Given the description of an element on the screen output the (x, y) to click on. 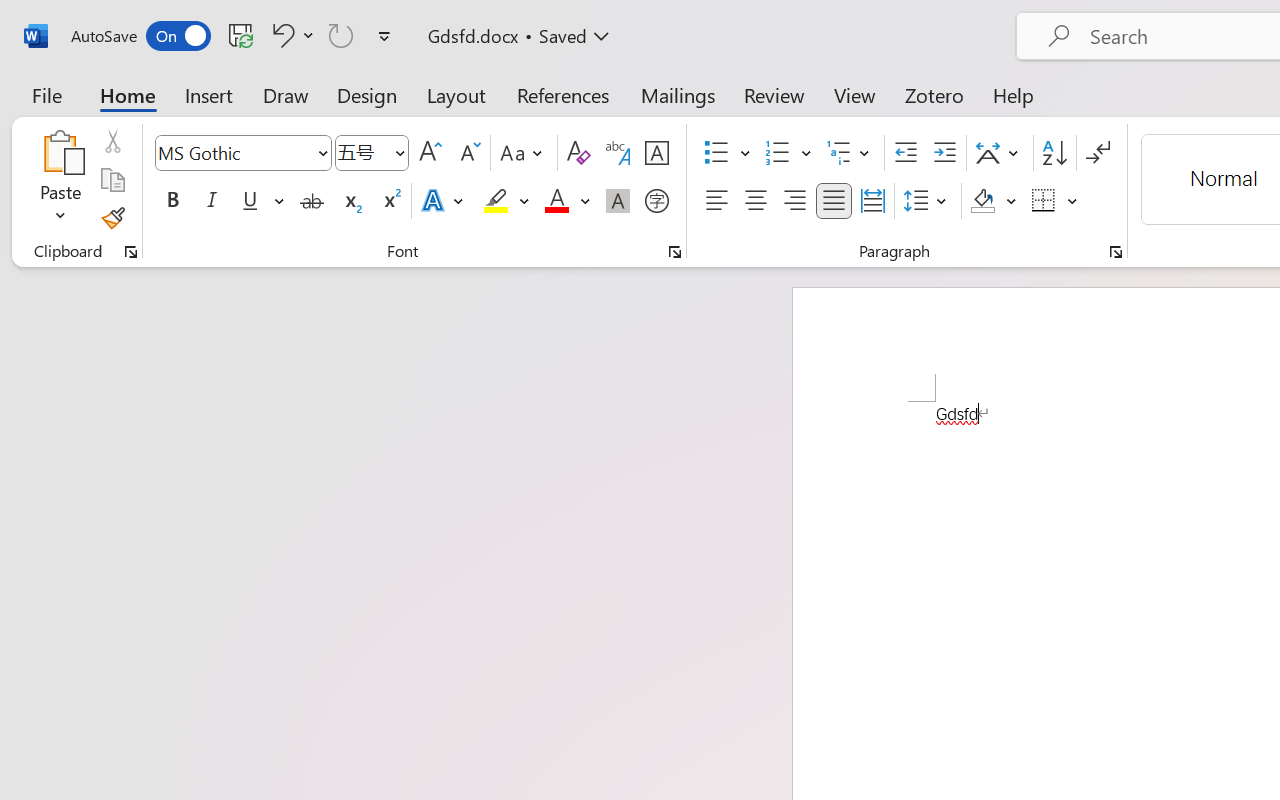
Font Color Red (556, 201)
